Given the description of an element on the screen output the (x, y) to click on. 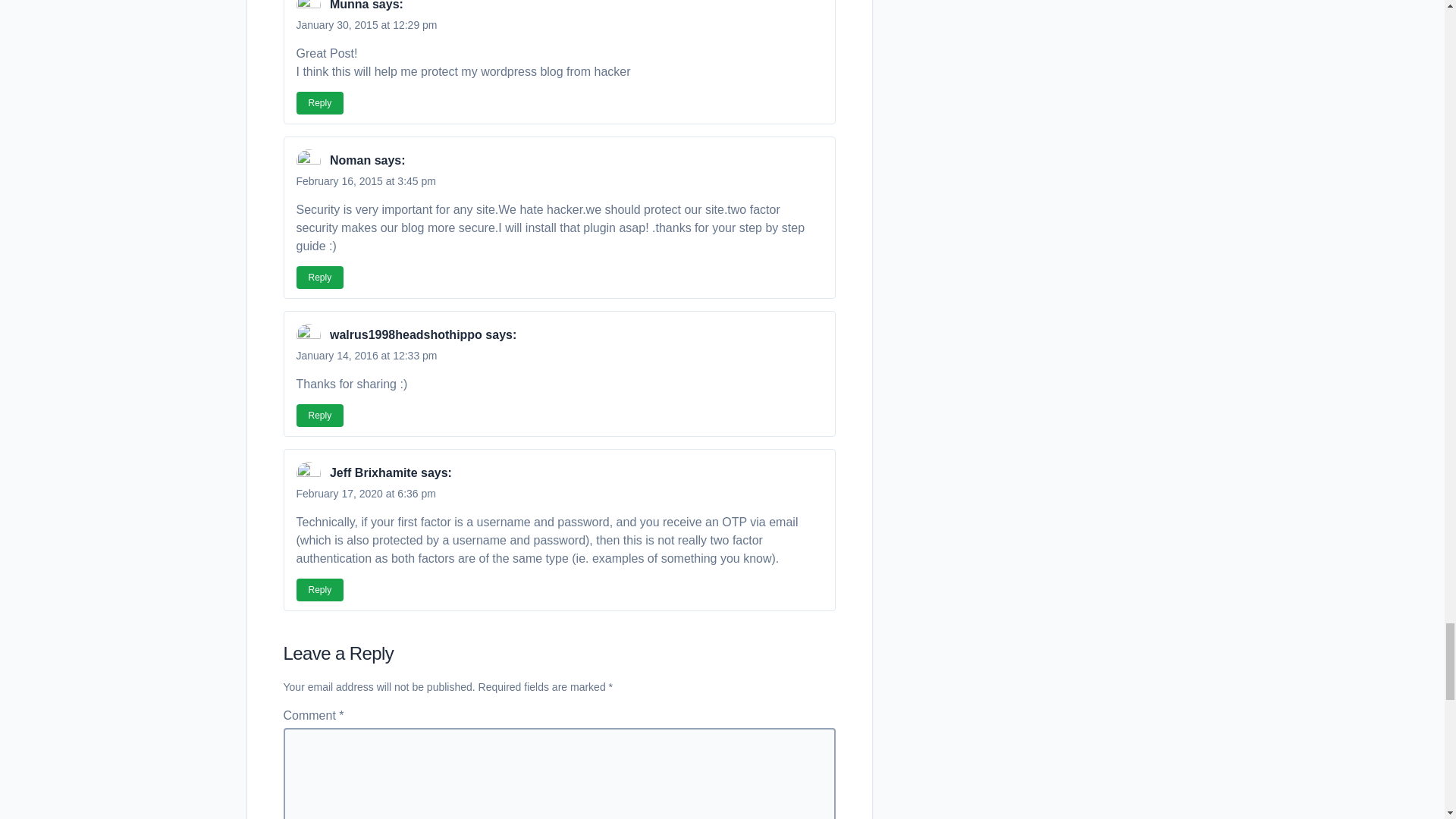
Munna (349, 5)
